Given the description of an element on the screen output the (x, y) to click on. 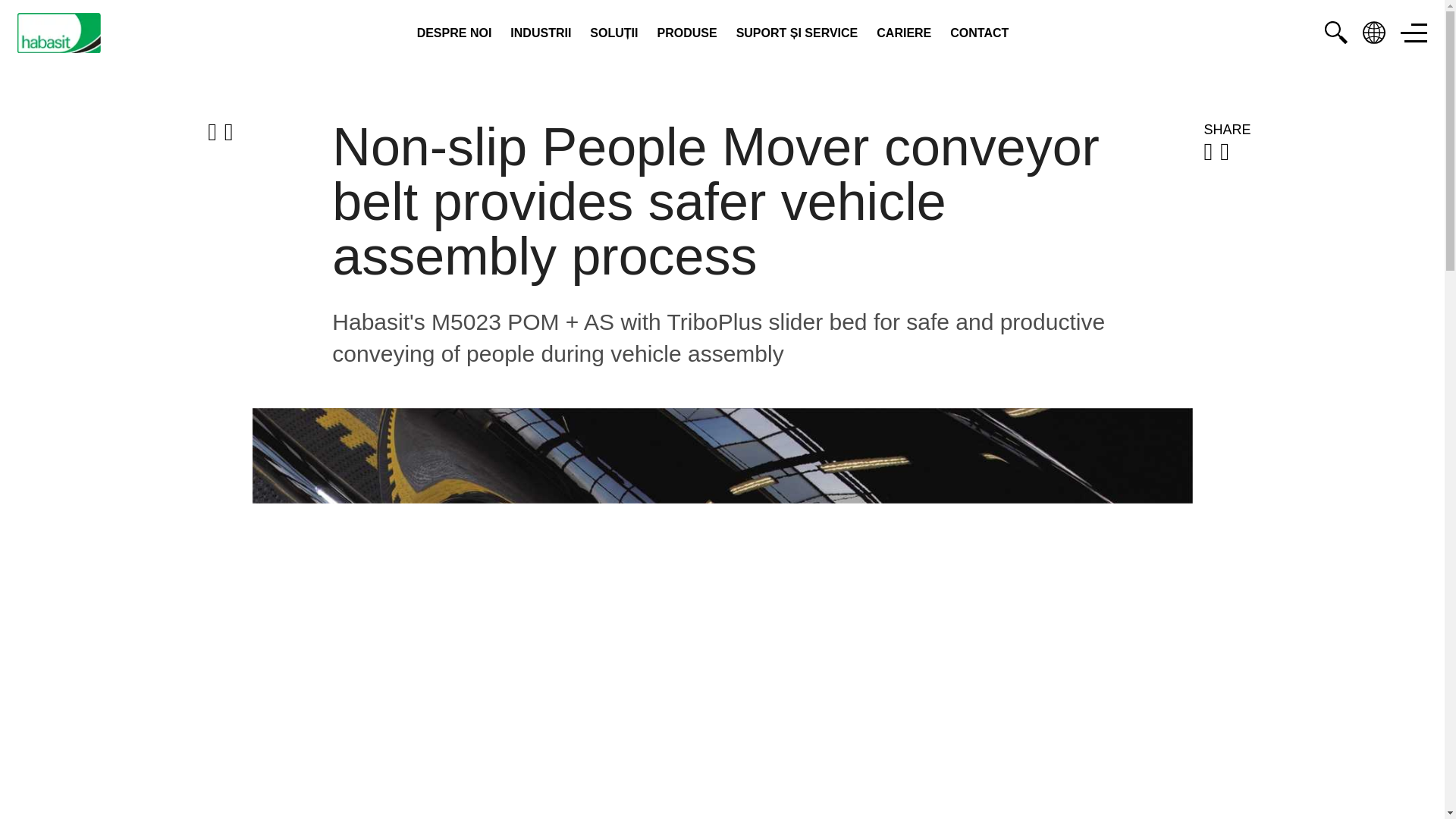
DESPRE NOI (454, 33)
CARIERE (903, 33)
PRODUSE (686, 33)
CONTACT (979, 33)
Search (1336, 32)
Region selector (1374, 32)
INDUSTRII (540, 33)
